Given the description of an element on the screen output the (x, y) to click on. 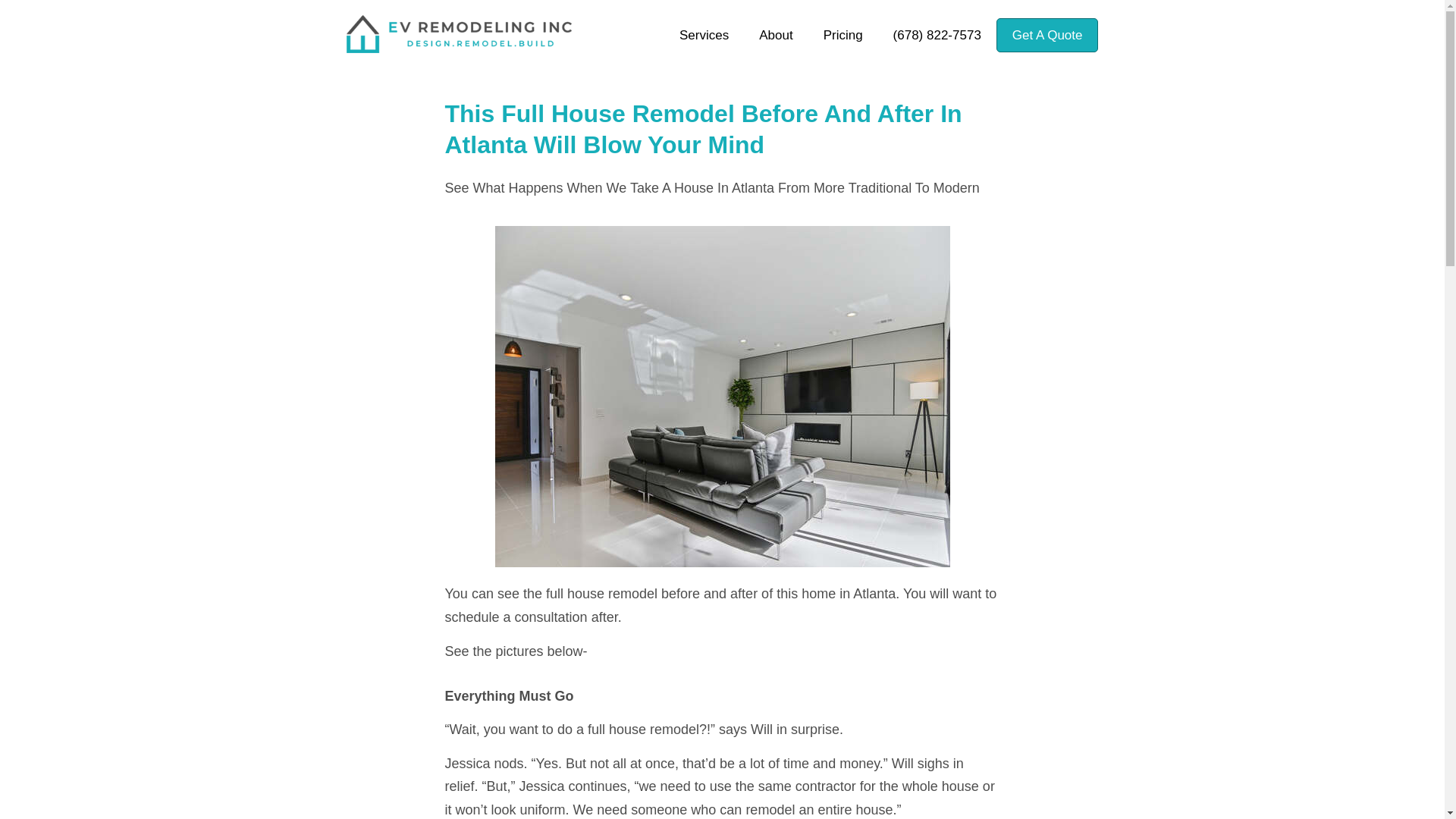
Services (703, 35)
Pricing (842, 35)
About (776, 35)
Get A Quote (1047, 35)
